Given the description of an element on the screen output the (x, y) to click on. 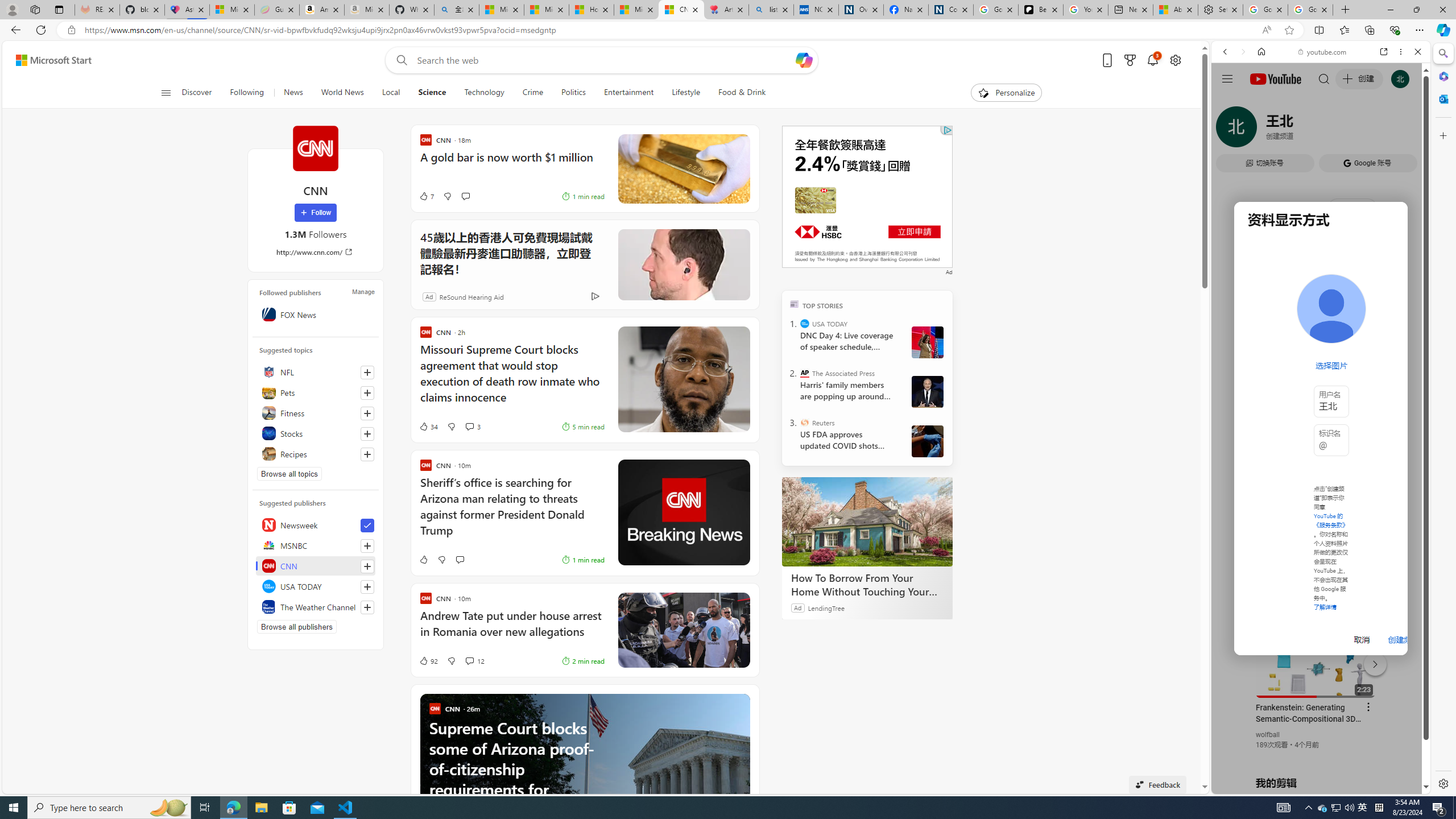
Asthma Inhalers: Names and Types (187, 9)
Open navigation menu (164, 92)
Trailer #2 [HD] (1320, 336)
More options (1401, 51)
Google (1266, 331)
View comments 12 Comment (474, 661)
NFL (315, 371)
